Given the description of an element on the screen output the (x, y) to click on. 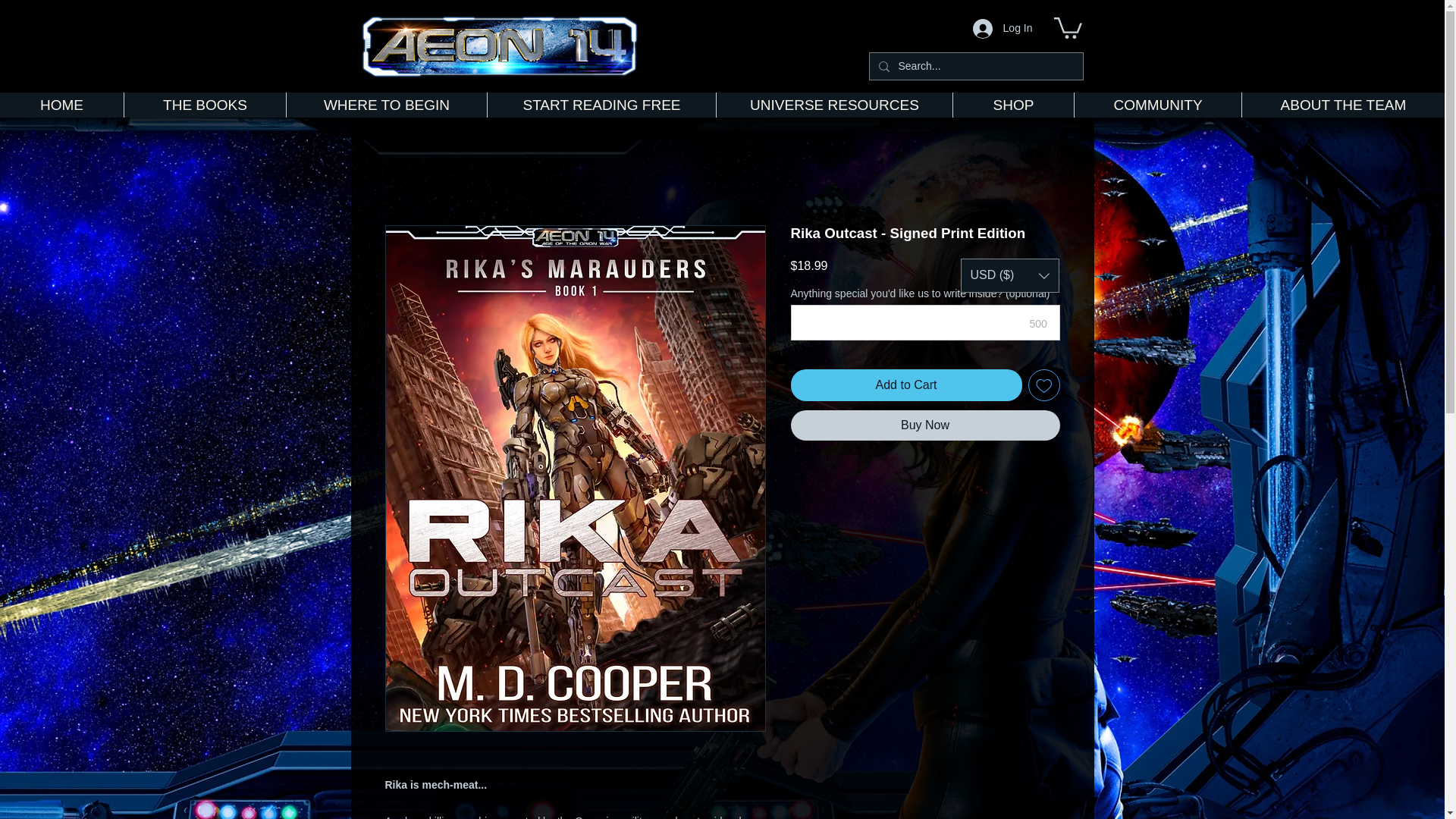
Buy Now (924, 425)
THE BOOKS (204, 104)
HOME (61, 104)
Add to Cart (906, 385)
WHERE TO BEGIN (385, 104)
SHOP (1013, 104)
START READING FREE (601, 104)
Log In (1002, 27)
COMMUNITY (1157, 104)
